Given the description of an element on the screen output the (x, y) to click on. 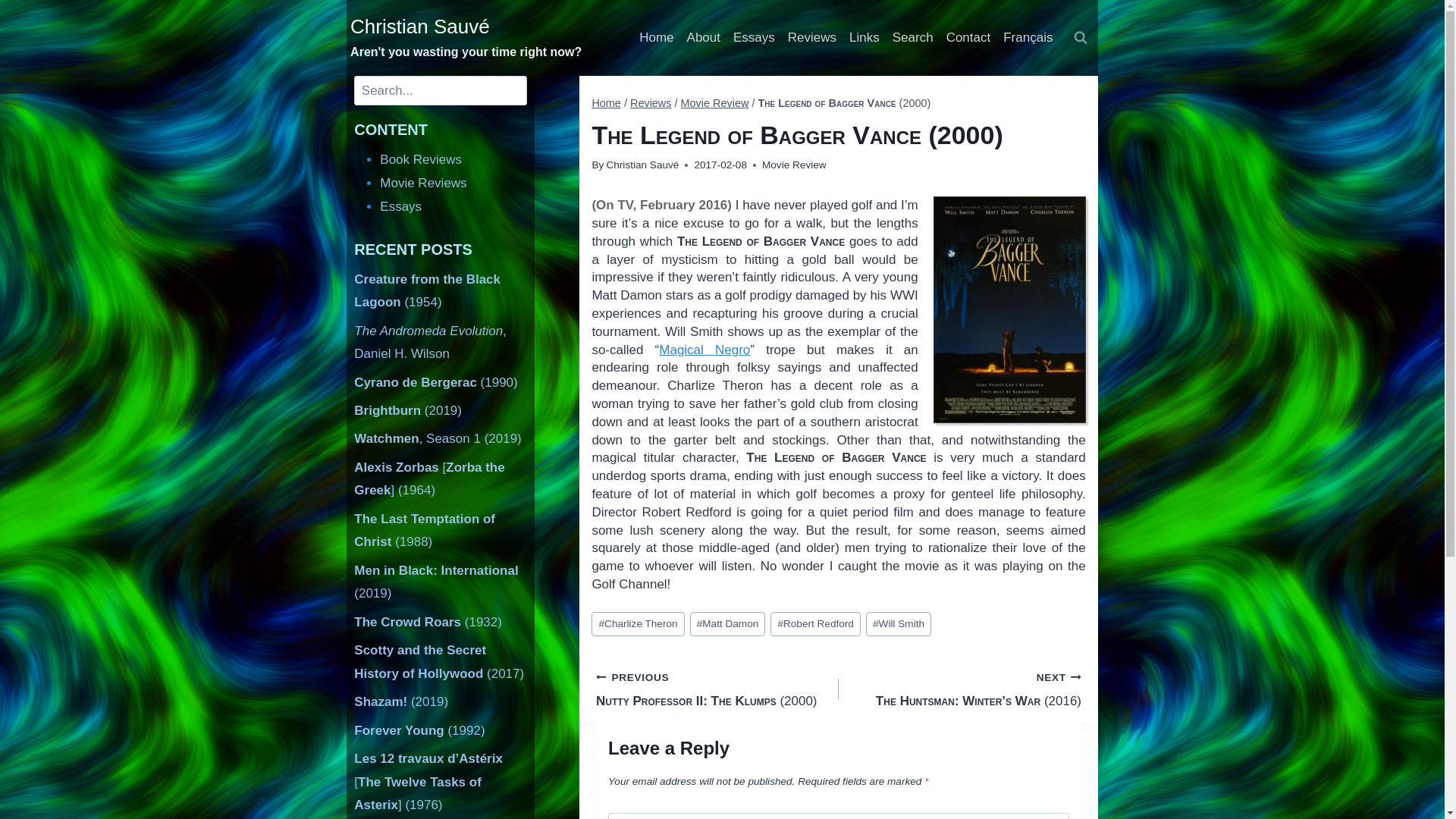
Movie Review (715, 102)
Essays (401, 206)
Charlize Theron (637, 623)
About (702, 38)
Home (656, 38)
Magical Negro (704, 350)
Contact (968, 38)
Reviews (811, 38)
The Andromeda Evolution, Daniel H. Wilson (429, 342)
Movie Review (794, 164)
Will Smith (898, 623)
Home (606, 102)
Essays (753, 38)
Book Reviews (420, 159)
Links (864, 38)
